Given the description of an element on the screen output the (x, y) to click on. 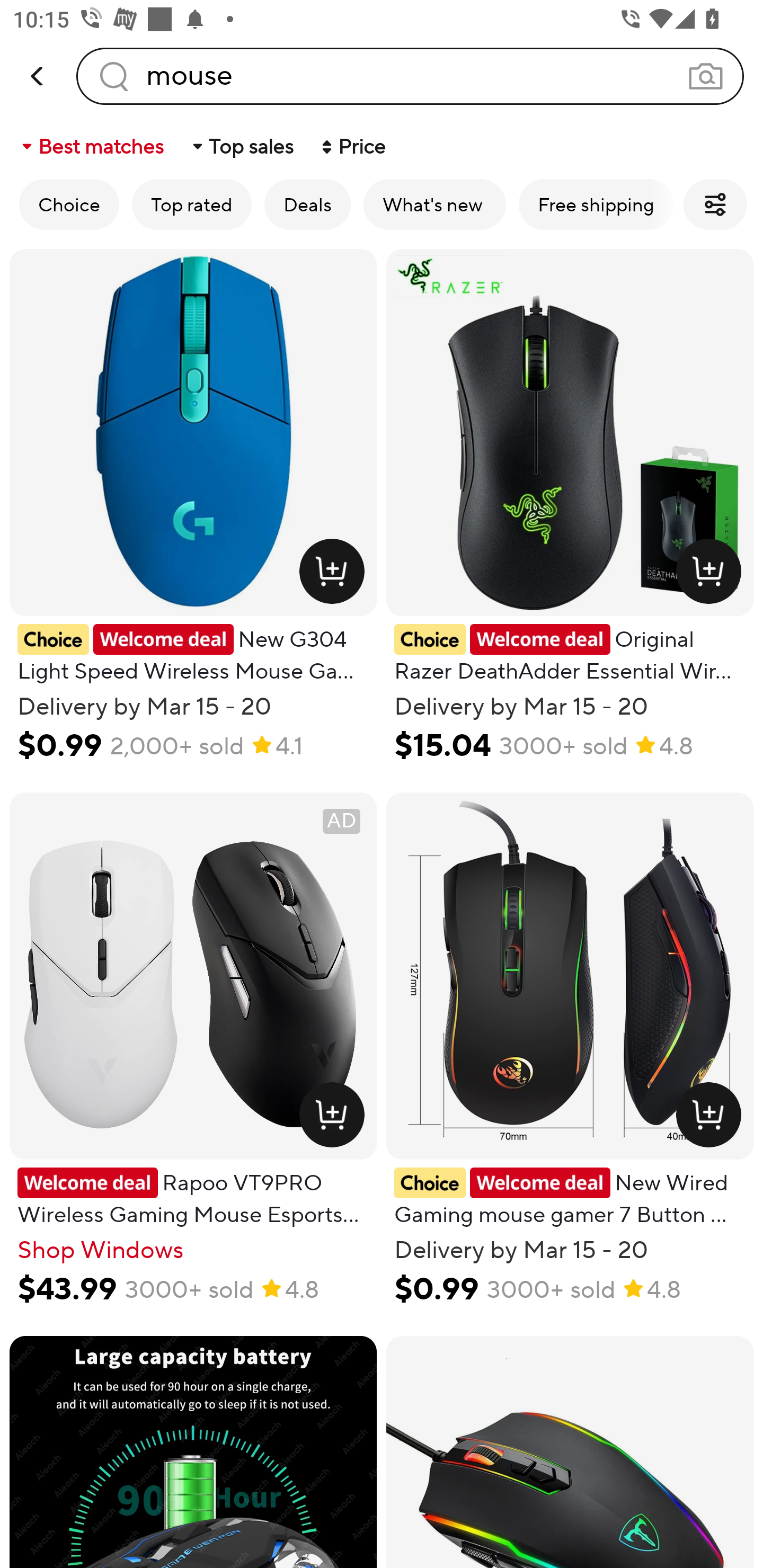
back (38, 75)
mouse Search query (409, 76)
mouse Search query (409, 76)
Best matches (91, 146)
Top sales (241, 146)
Price (352, 146)
Choice (69, 204)
Top rated (191, 204)
Deals (307, 204)
What's new  (434, 204)
Free shipping (595, 204)
